Given the description of an element on the screen output the (x, y) to click on. 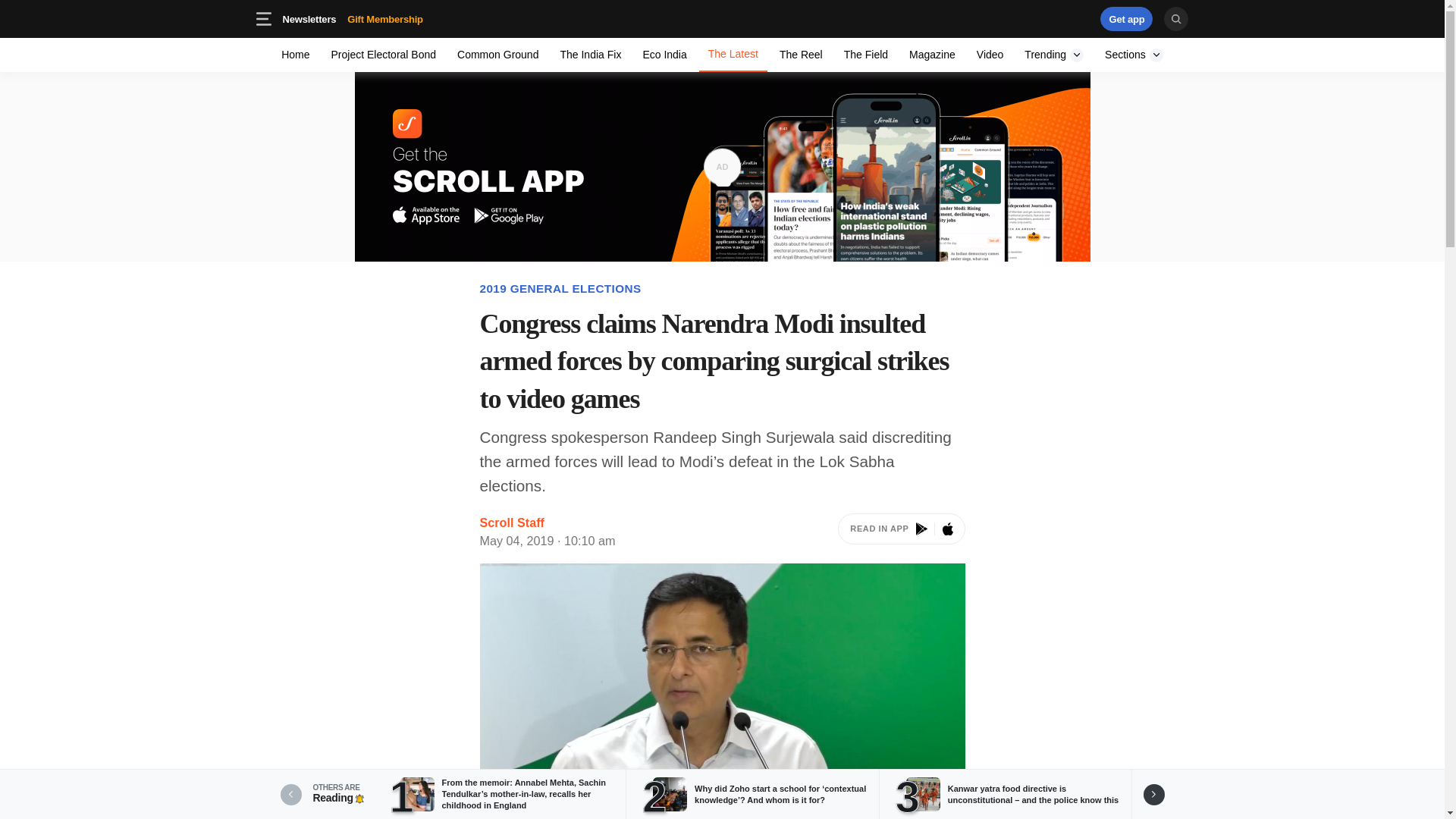
The Latest (732, 54)
The Field (352, 18)
Trending (865, 54)
Newsletters (1053, 54)
READ IN APP (309, 18)
Gift Membership (721, 18)
The Reel (900, 531)
Magazine (385, 18)
Get app (800, 54)
Get app (931, 54)
Home (1126, 18)
Trending (1035, 18)
The India Fix (295, 54)
